Given the description of an element on the screen output the (x, y) to click on. 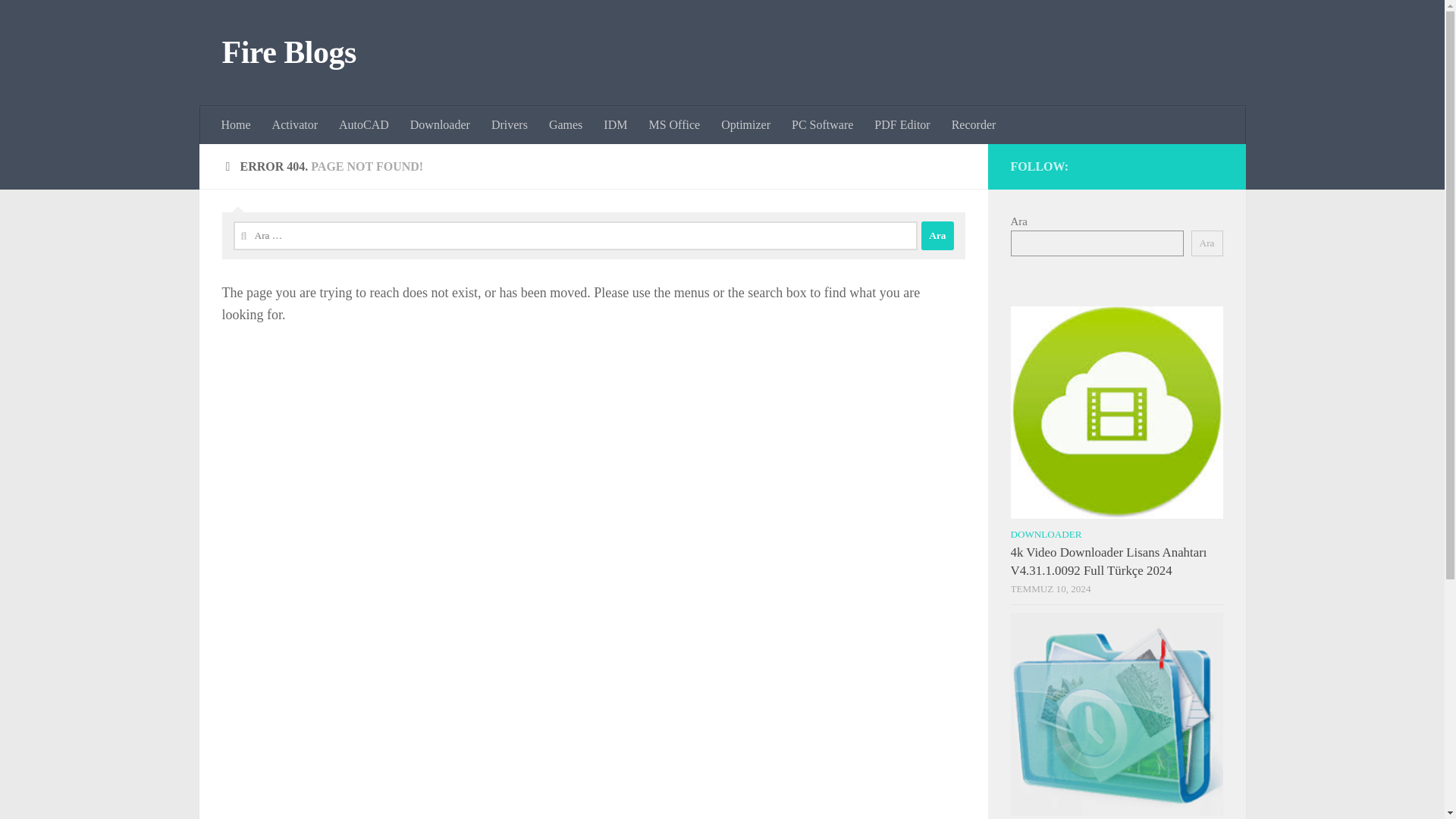
Home (236, 125)
Recorder (973, 125)
PC Software (821, 125)
Optimizer (745, 125)
Downloader (439, 125)
Drivers (509, 125)
DOWNLOADER (1045, 533)
AutoCAD (363, 125)
Activator (295, 125)
Ara (937, 235)
Ara (937, 235)
MS Office (673, 125)
Ara (937, 235)
PDF Editor (901, 125)
IDM (614, 125)
